Given the description of an element on the screen output the (x, y) to click on. 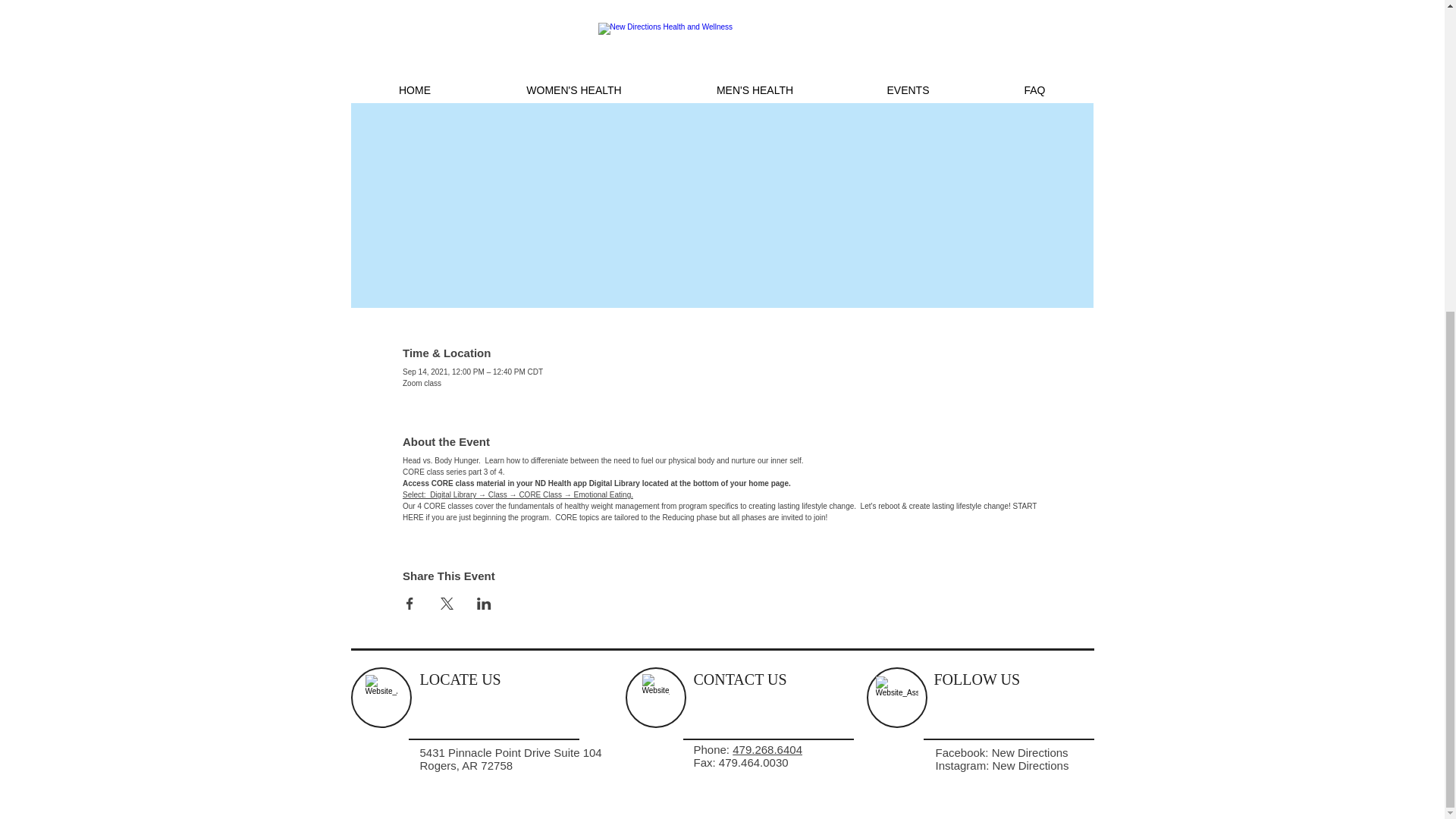
Rogers, AR 72758 (466, 765)
479.268.6404 (767, 748)
479.464.0030 (754, 762)
Pinnacle Point Drive S (504, 752)
